Given the description of an element on the screen output the (x, y) to click on. 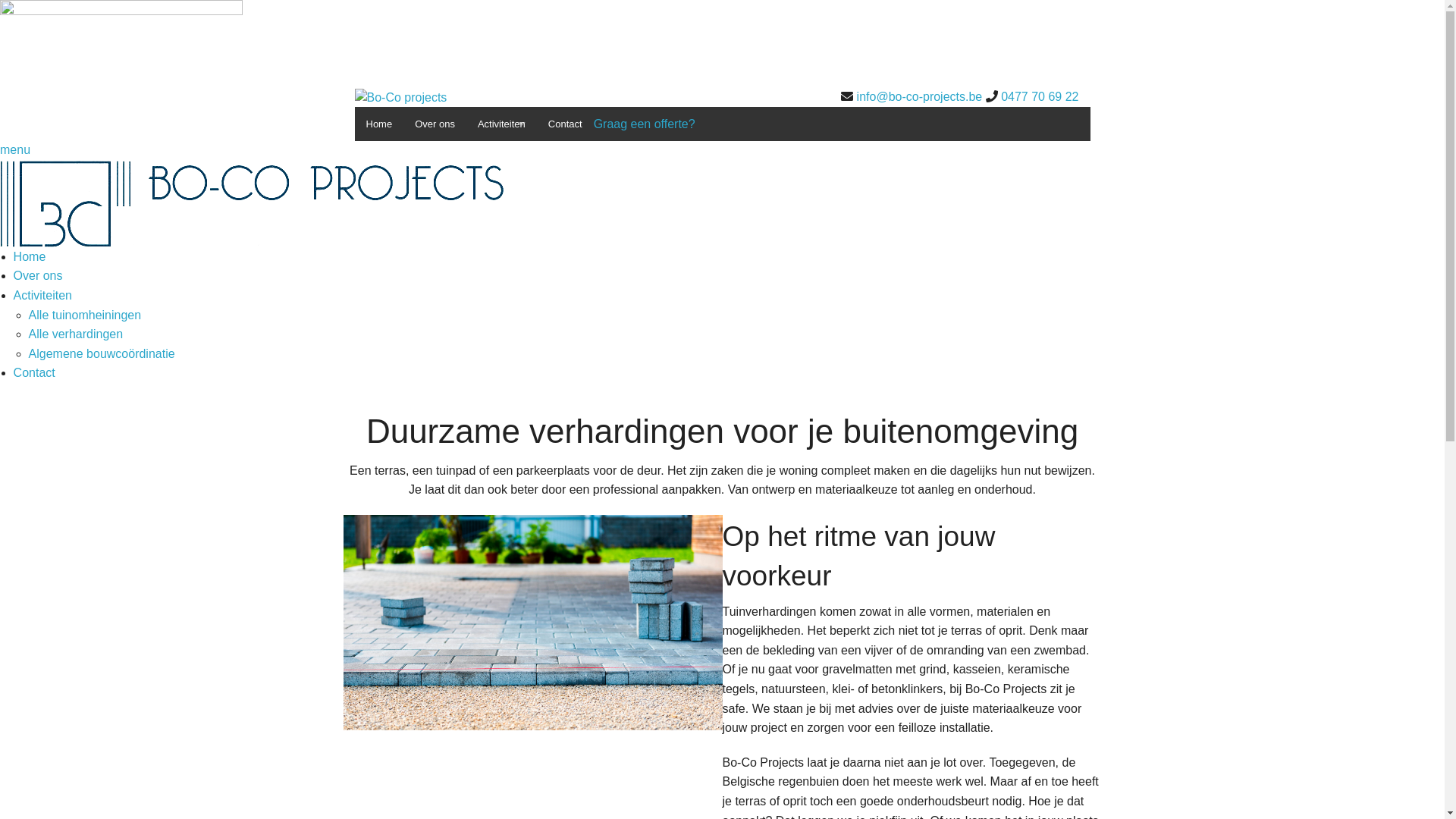
Alle tuinomheiningen Element type: text (501, 158)
Over ons Element type: text (434, 123)
Bo-Co projects Element type: hover (252, 201)
Contact Element type: text (564, 123)
menu Element type: text (15, 149)
info@bo-co-projects.be Element type: text (919, 96)
Alle tuinomheiningen Element type: text (84, 314)
Alle verhardingen Element type: text (75, 333)
Home Element type: text (29, 256)
Activiteiten Element type: text (501, 123)
Bo-Co projects Element type: hover (400, 96)
0477 70 69 22 Element type: text (1039, 96)
Home Element type: text (379, 123)
Contact Element type: text (34, 372)
Activiteiten Element type: text (42, 294)
Graag een offerte? Element type: text (644, 123)
Over ons Element type: text (37, 275)
Alle verhardingen Element type: text (501, 192)
